Given the description of an element on the screen output the (x, y) to click on. 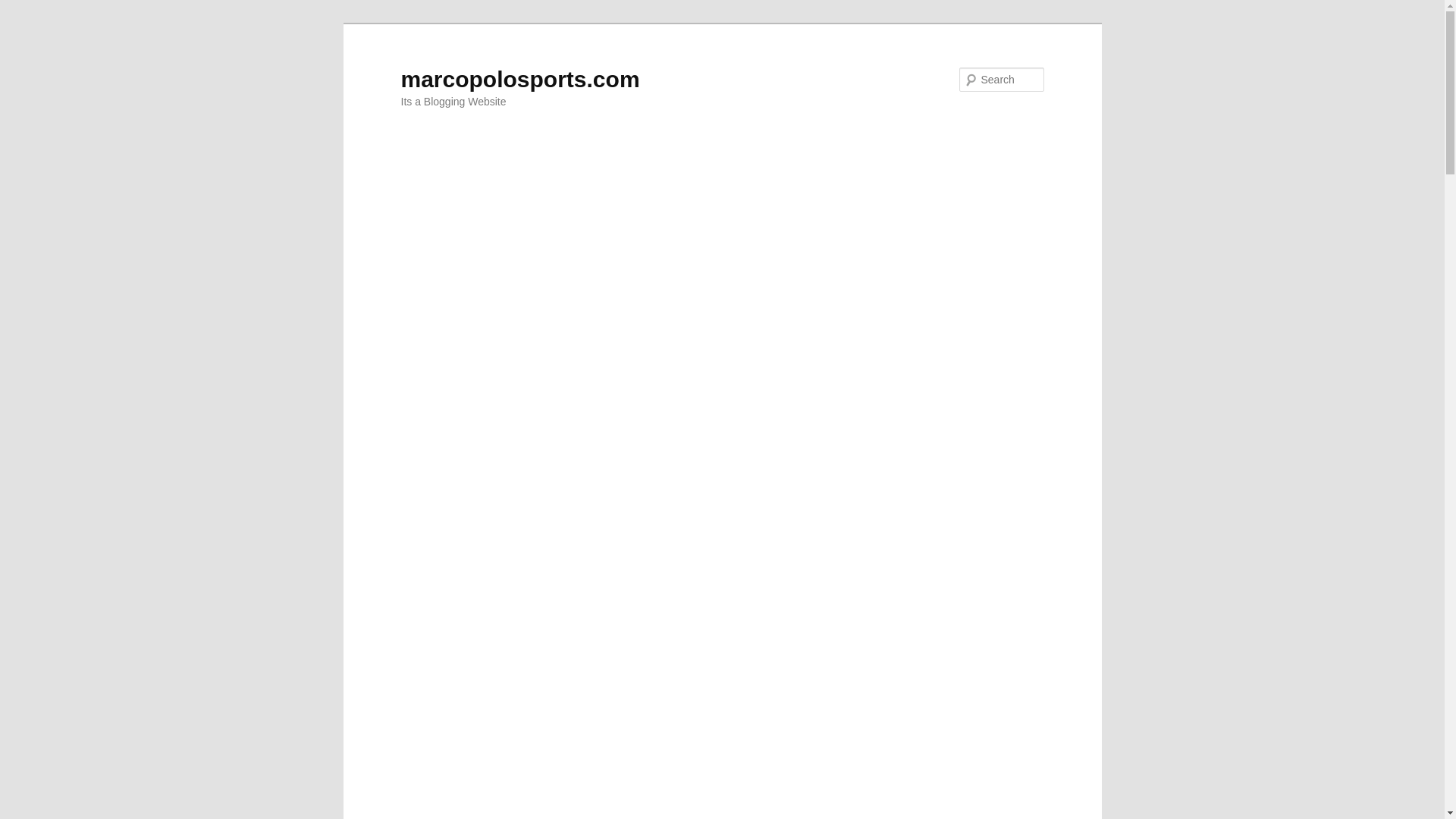
Search (24, 8)
marcopolosports.com (519, 78)
